Given the description of an element on the screen output the (x, y) to click on. 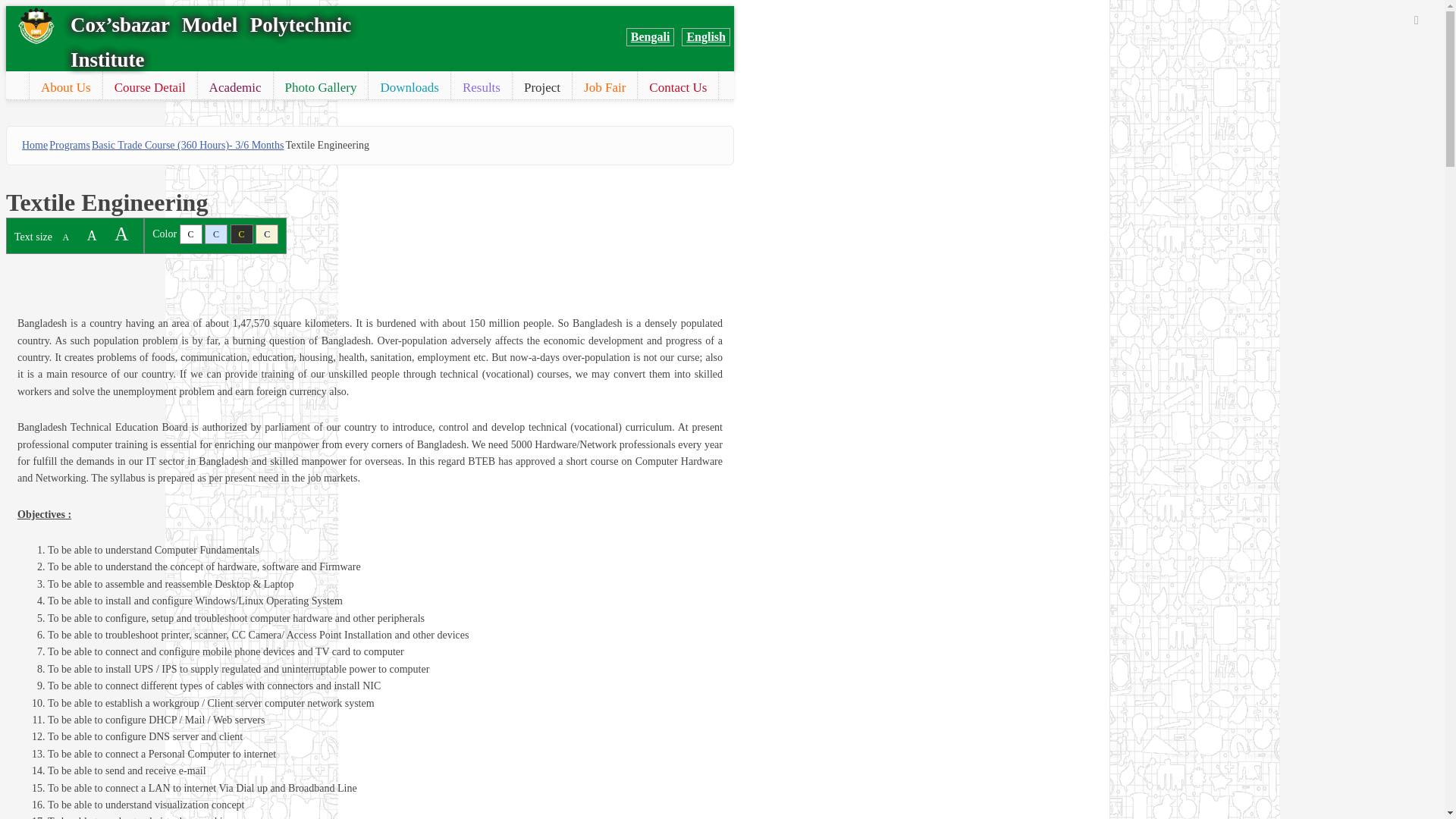
Skip to main content Element type: text (50, 6)
About Us Element type: text (65, 87)
C Element type: text (266, 234)
English Element type: text (705, 37)
C Element type: text (241, 234)
Course Detail Element type: text (150, 87)
A Element type: text (65, 237)
Programs Element type: text (69, 144)
C Element type: text (190, 234)
Home Page Element type: hover (17, 79)
Project Element type: text (541, 87)
Job Fair Element type: text (604, 87)
Downloads Element type: text (408, 87)
Photo Gallery Element type: text (320, 87)
Academic Element type: text (235, 87)
Basic Trade Course (360 Hours)- 3/6 Months Element type: text (187, 144)
Contact Us Element type: text (677, 87)
Home Element type: hover (36, 25)
Results Element type: text (481, 87)
Home Element type: text (34, 144)
A Element type: text (91, 235)
Bengali Element type: text (650, 37)
C Element type: text (215, 234)
A Element type: text (120, 233)
